Given the description of an element on the screen output the (x, y) to click on. 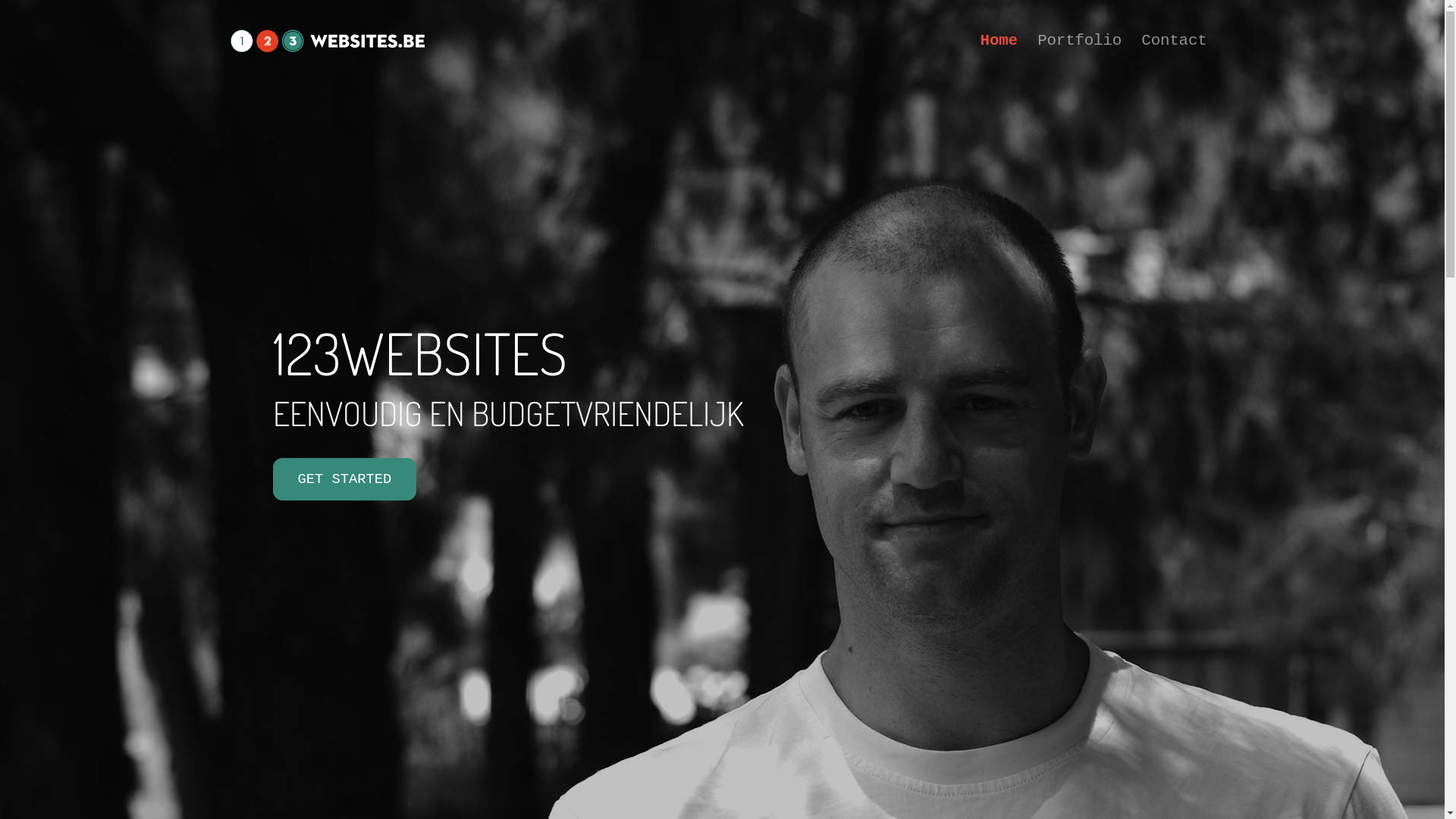
Home Element type: text (1080, 23)
GET STARTED Element type: text (345, 479)
Contact Element type: text (1186, 23)
Portfolio Element type: text (1128, 23)
